Given the description of an element on the screen output the (x, y) to click on. 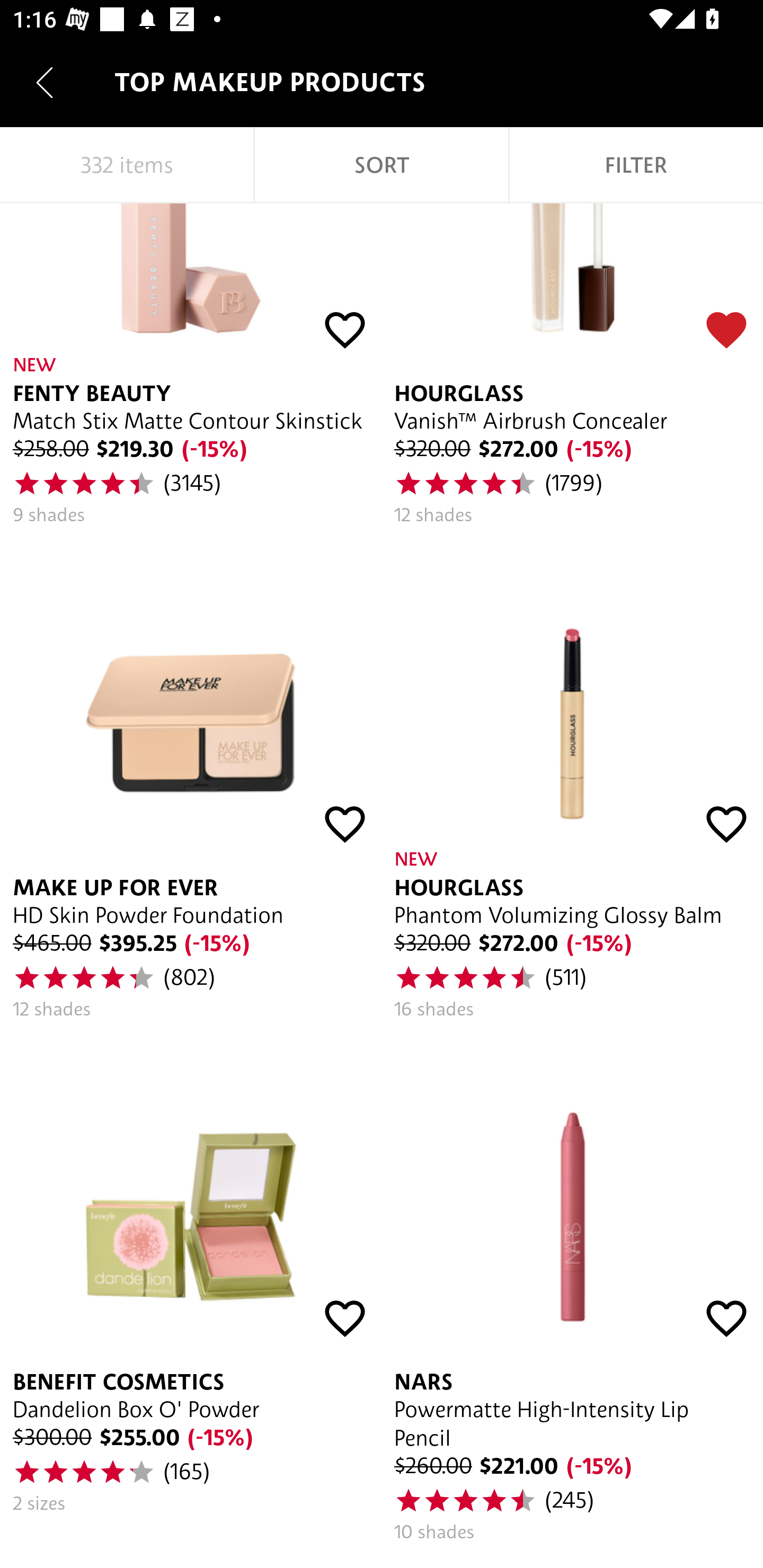
Navigate up (44, 82)
SORT (381, 165)
FILTER (636, 165)
